Given the description of an element on the screen output the (x, y) to click on. 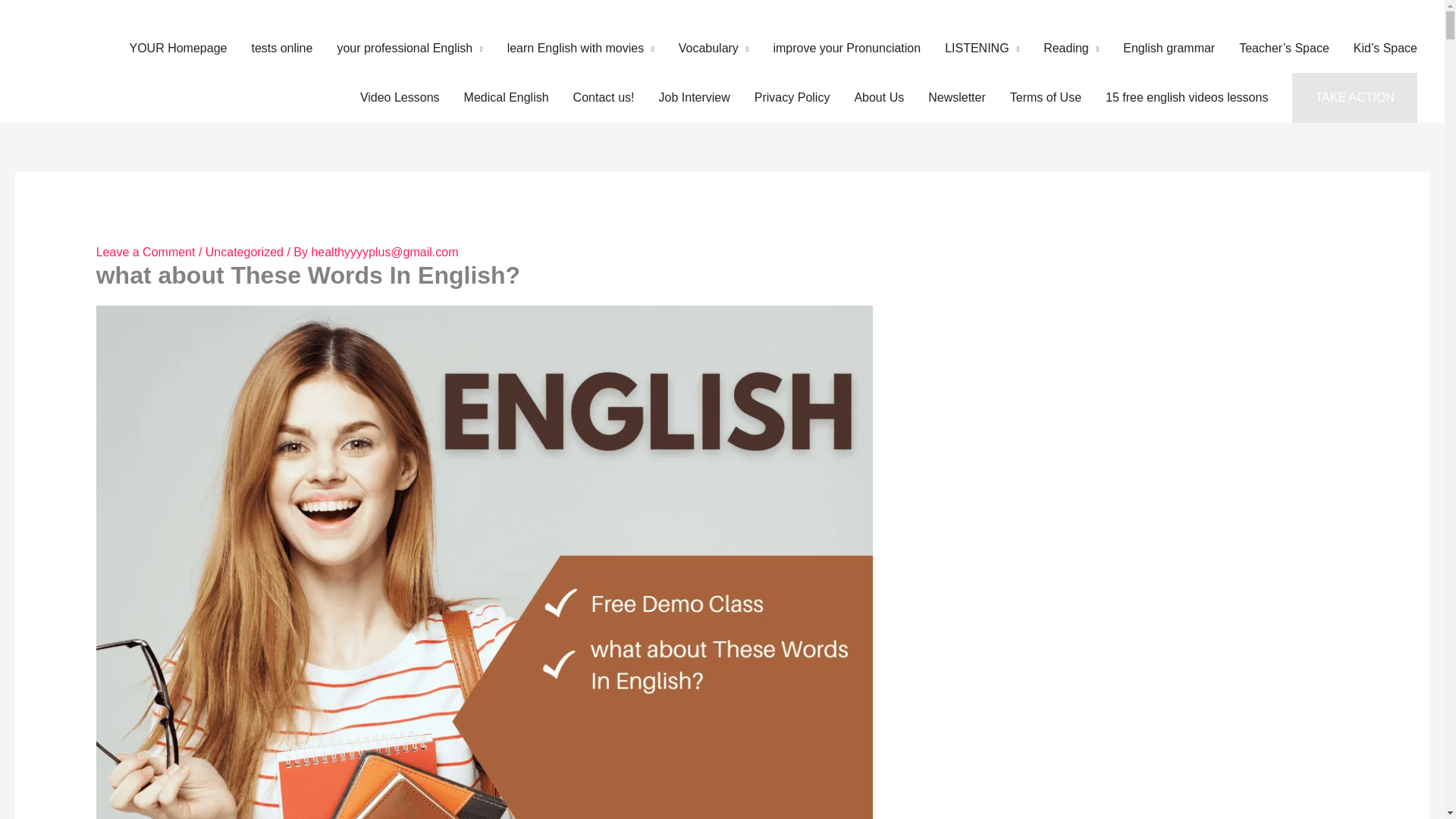
learn English with movies (580, 48)
YOUR Homepage (177, 48)
improve your Pronunciation (846, 48)
English grammar (1168, 48)
Video Lessons (399, 97)
Medical English (505, 97)
LISTENING (981, 48)
Contact us! (603, 97)
Reading (1070, 48)
tests online (281, 48)
